Given the description of an element on the screen output the (x, y) to click on. 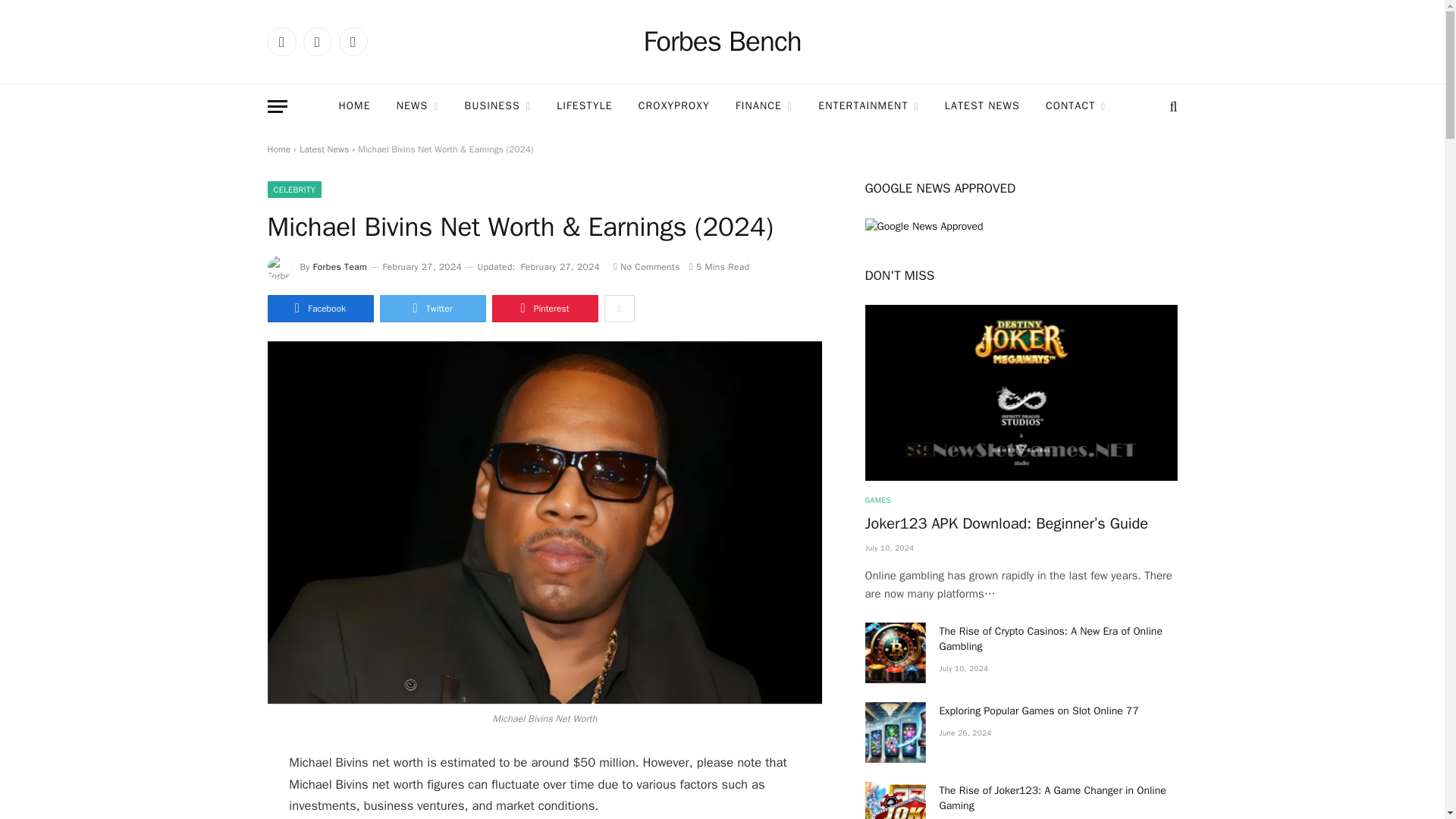
HOME (353, 106)
Forbes Bench (721, 41)
Instagram (351, 41)
NEWS (417, 106)
BUSINESS (497, 106)
Forbesbench (721, 41)
Facebook (280, 41)
